Given the description of an element on the screen output the (x, y) to click on. 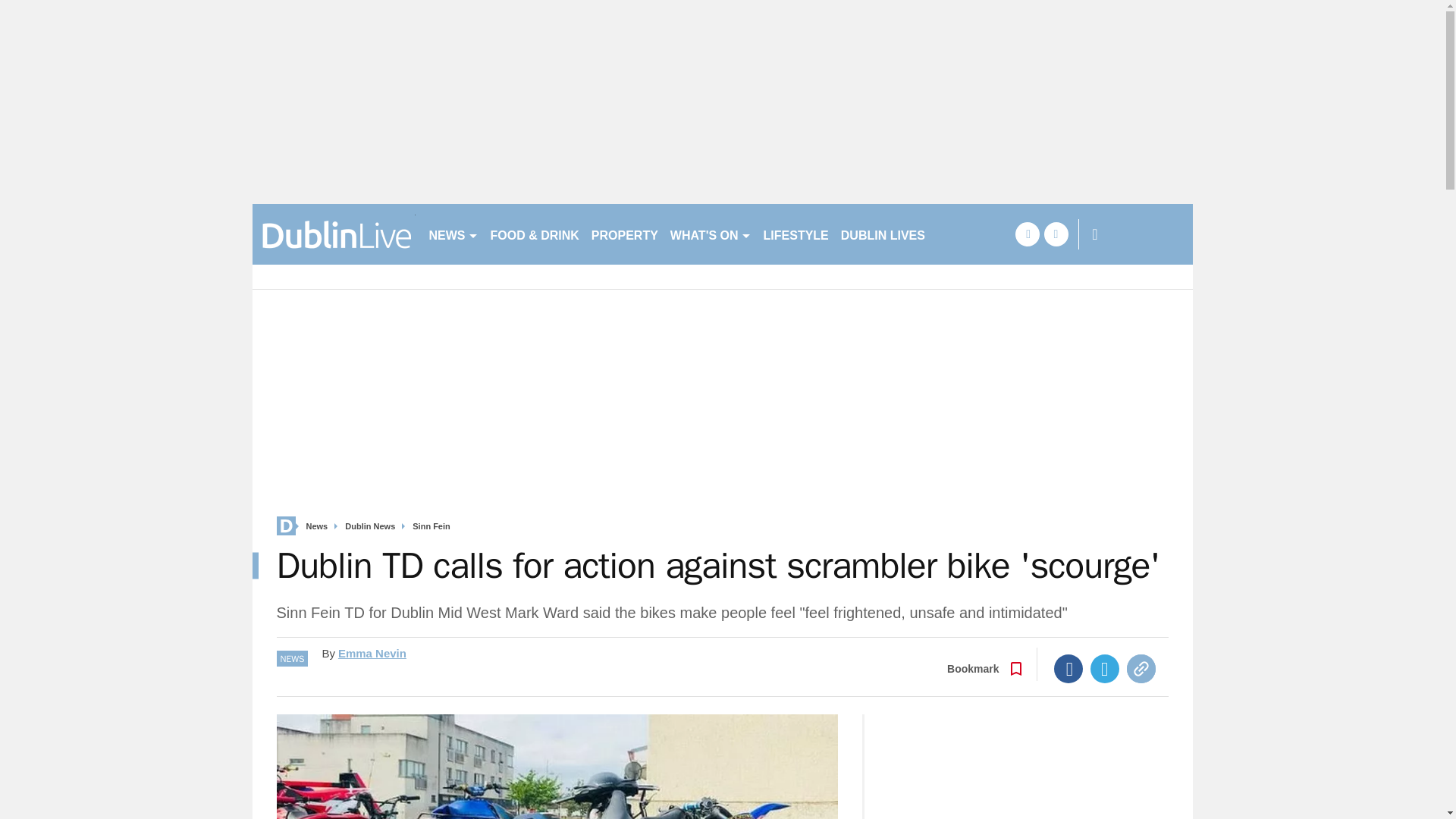
PROPERTY (624, 233)
Facebook (1068, 668)
SOCCER (962, 233)
facebook (1026, 233)
Twitter (1104, 668)
WHAT'S ON (710, 233)
twitter (1055, 233)
DUBLIN LIVES (882, 233)
NEWS (453, 233)
LIFESTYLE (795, 233)
dublinlive (332, 233)
